Given the description of an element on the screen output the (x, y) to click on. 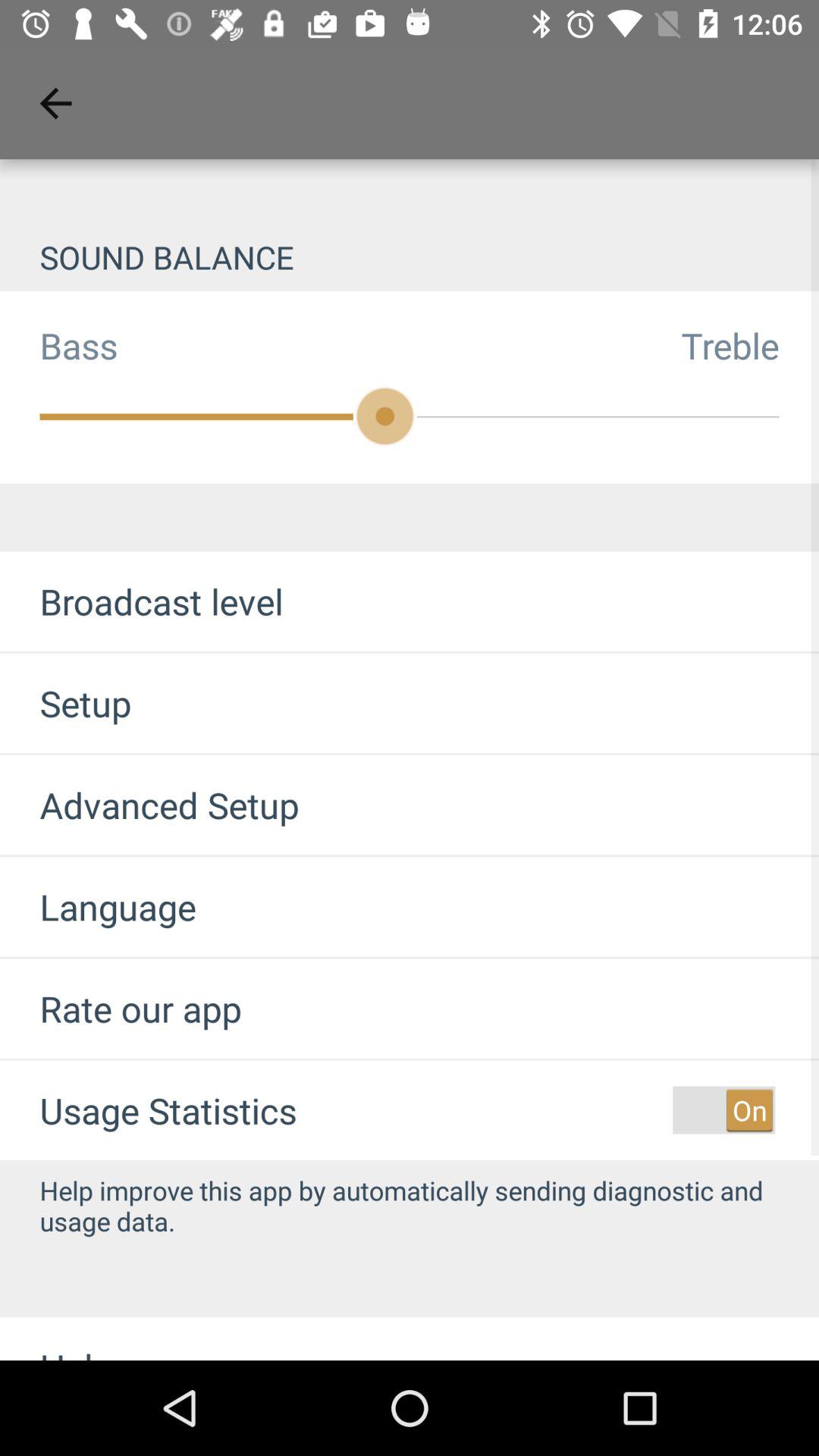
click item below sound balance item (58, 345)
